Given the description of an element on the screen output the (x, y) to click on. 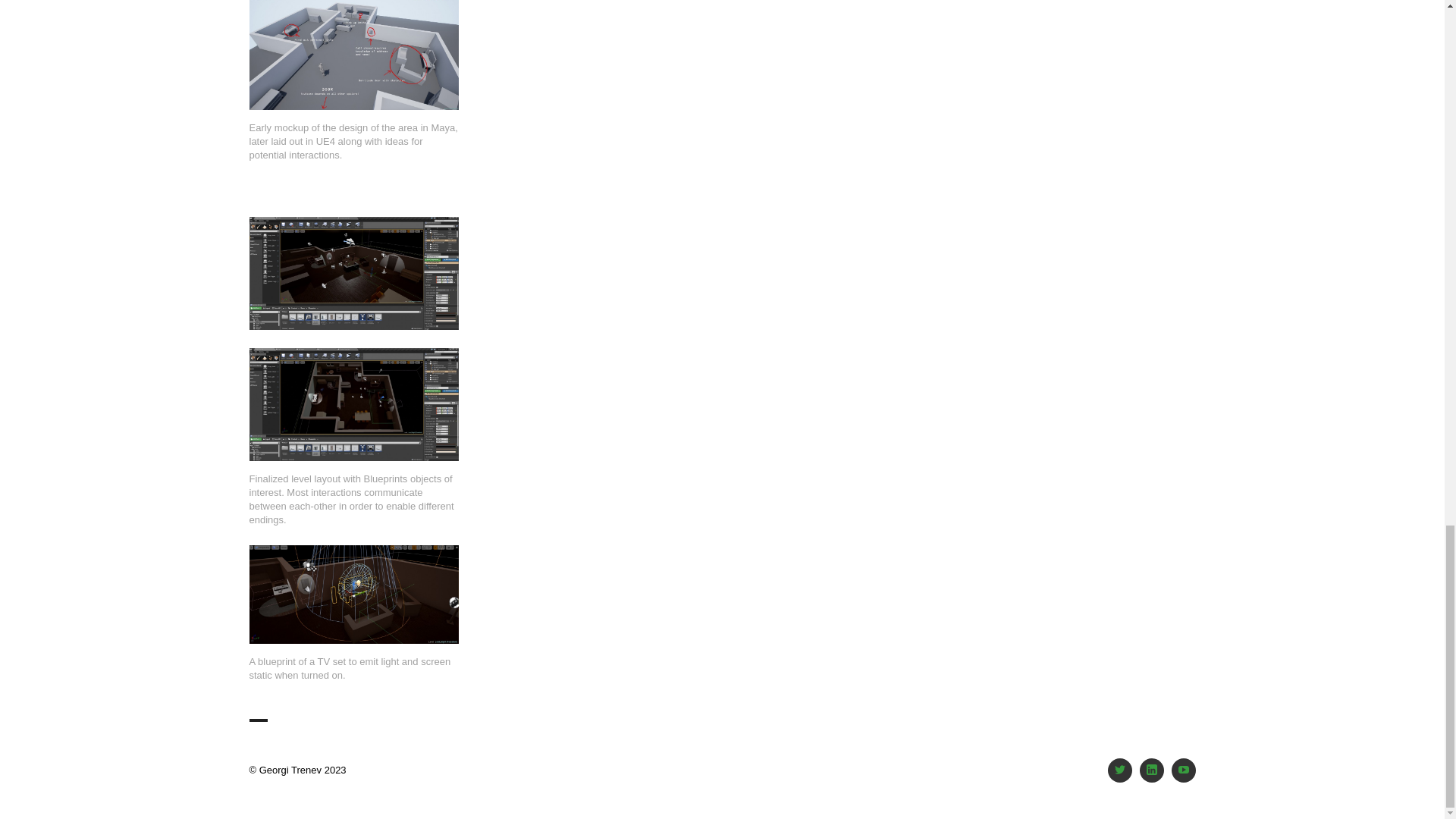
LinkedIn (1151, 770)
YouTube (1182, 770)
Twitter (1120, 770)
